Given the description of an element on the screen output the (x, y) to click on. 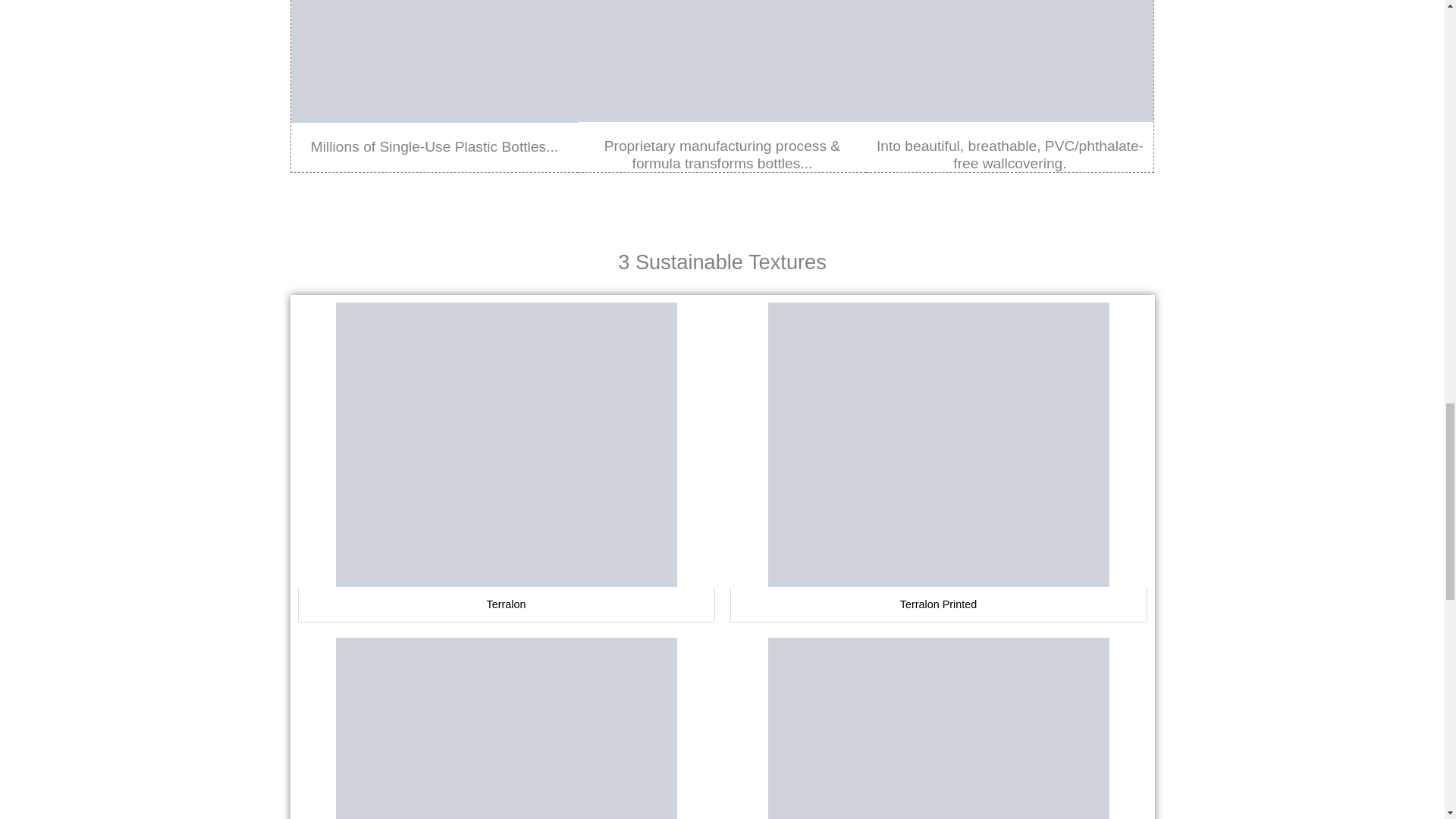
Transformation Arrow (722, 61)
TerralonTransformation (1009, 60)
